Given the description of an element on the screen output the (x, y) to click on. 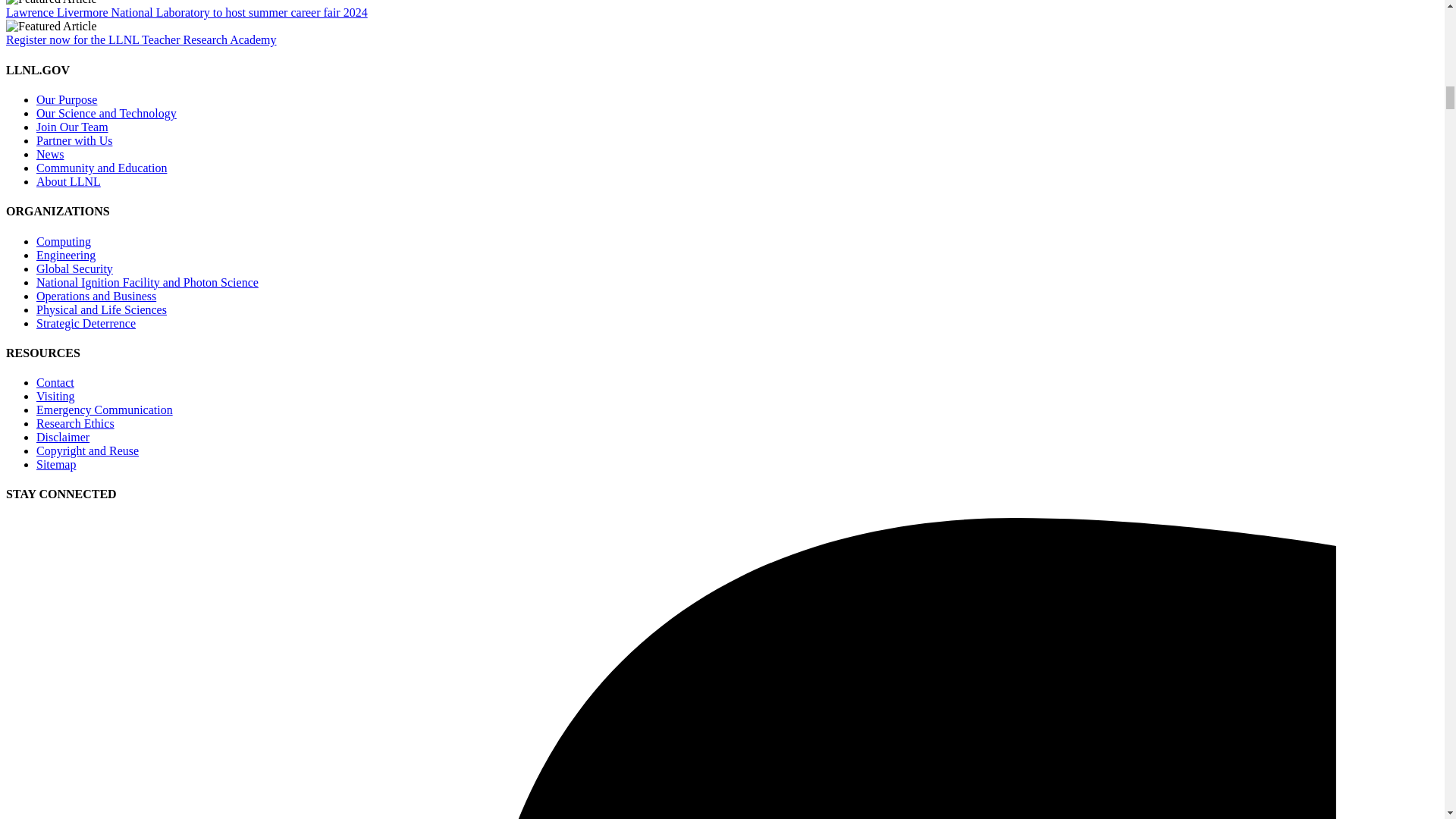
Partner with Us (74, 140)
Global Security (74, 268)
Lasers (147, 282)
Engineering (66, 254)
Computation (63, 241)
Physical and Life Sciences (101, 309)
Science and Technology (106, 113)
About (68, 181)
Careers (71, 126)
Community and Education (101, 167)
Computation (95, 295)
News (50, 154)
Our Purpose (66, 99)
